Given the description of an element on the screen output the (x, y) to click on. 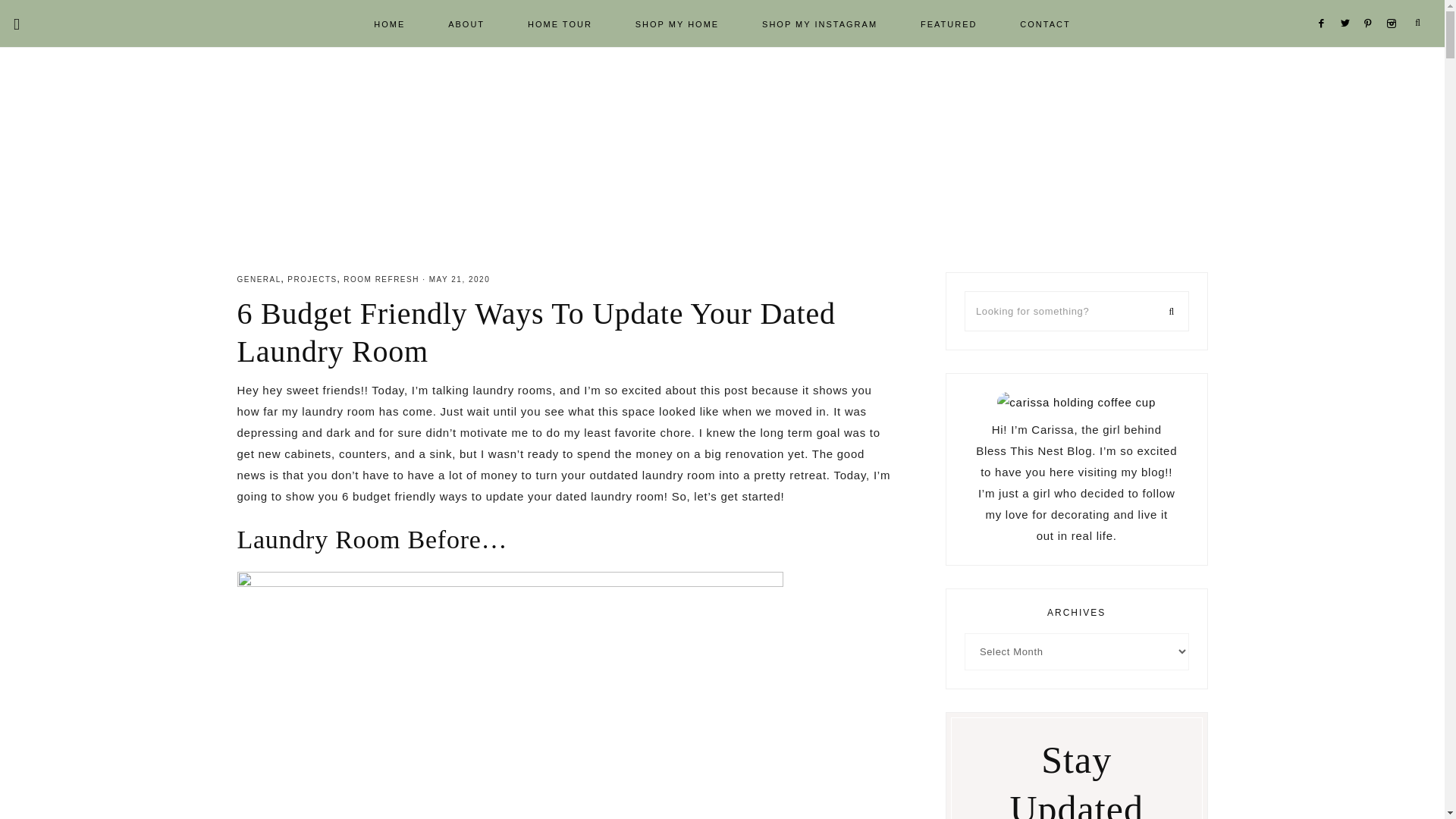
CONTACT (1044, 22)
ROOM REFRESH (381, 279)
Pinterest (1371, 4)
Instagram (1393, 4)
Twitter (1348, 4)
FEATURED (948, 22)
Facebook (1324, 4)
PROJECTS (311, 279)
HOME TOUR (559, 22)
SHOP MY INSTAGRAM (819, 22)
SHOP MY HOME (676, 22)
ABOUT (465, 22)
HOME (389, 22)
BLESS THIS NEST (721, 149)
GENERAL (258, 279)
